Given the description of an element on the screen output the (x, y) to click on. 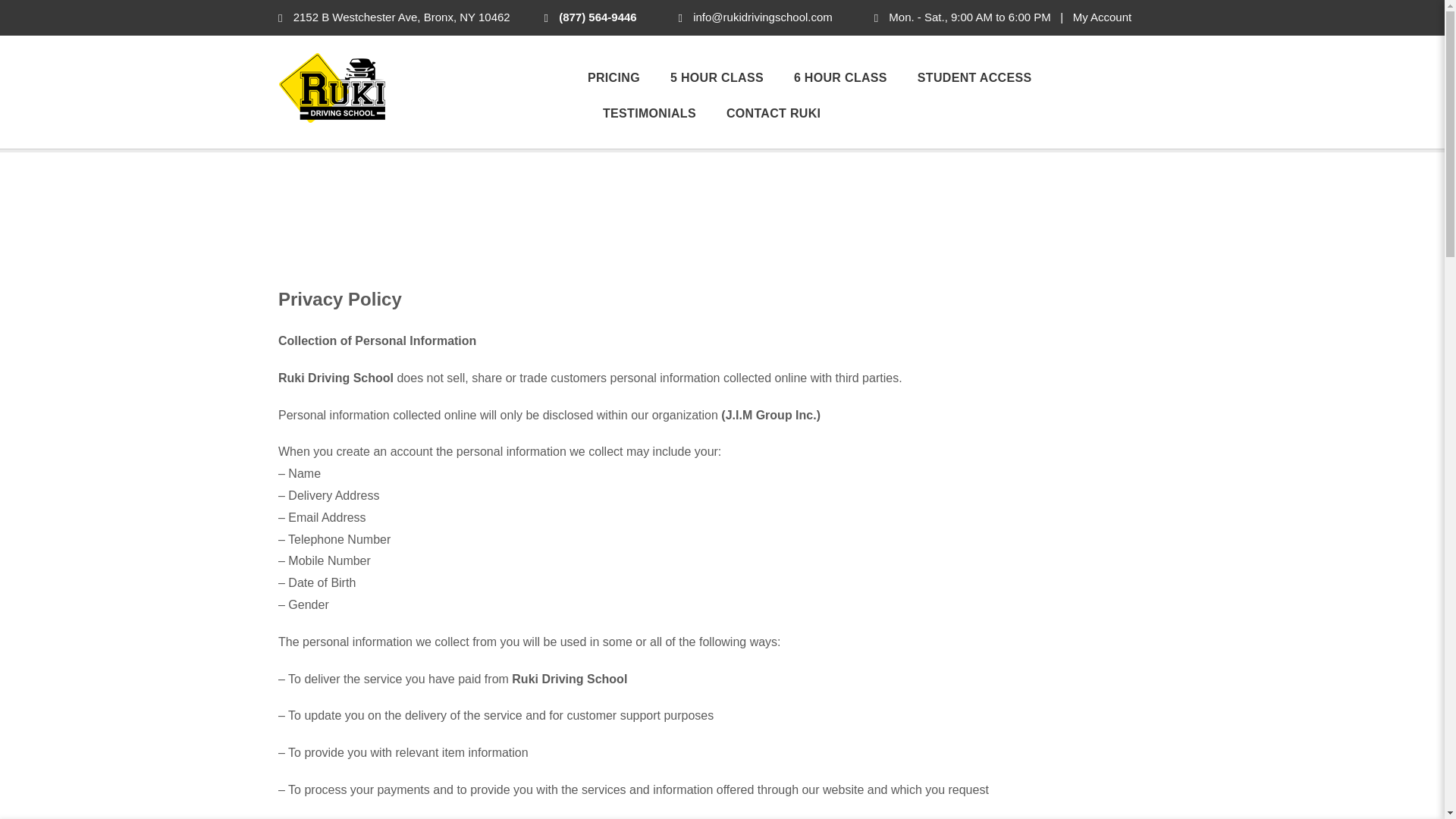
TESTIMONIALS (649, 113)
CONTACT RUKI (766, 113)
6 HOUR CLASS (840, 78)
PRICING (621, 78)
2152 B Westchester Ave, Bronx, NY 10462 (394, 16)
My Account (1102, 16)
5 HOUR CLASS (716, 78)
STUDENT ACCESS (974, 78)
